Given the description of an element on the screen output the (x, y) to click on. 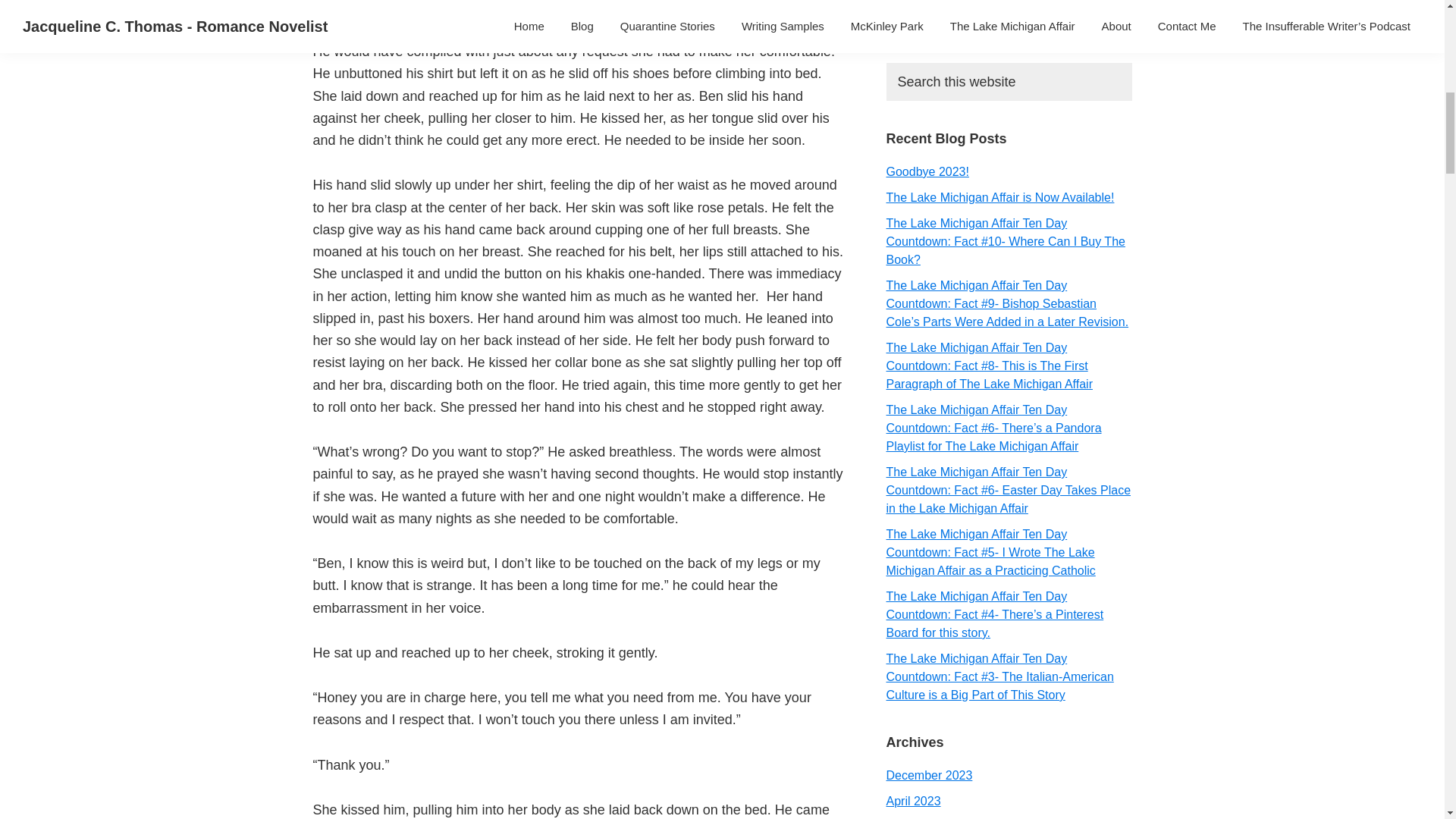
Sign up (930, 15)
